Given the description of an element on the screen output the (x, y) to click on. 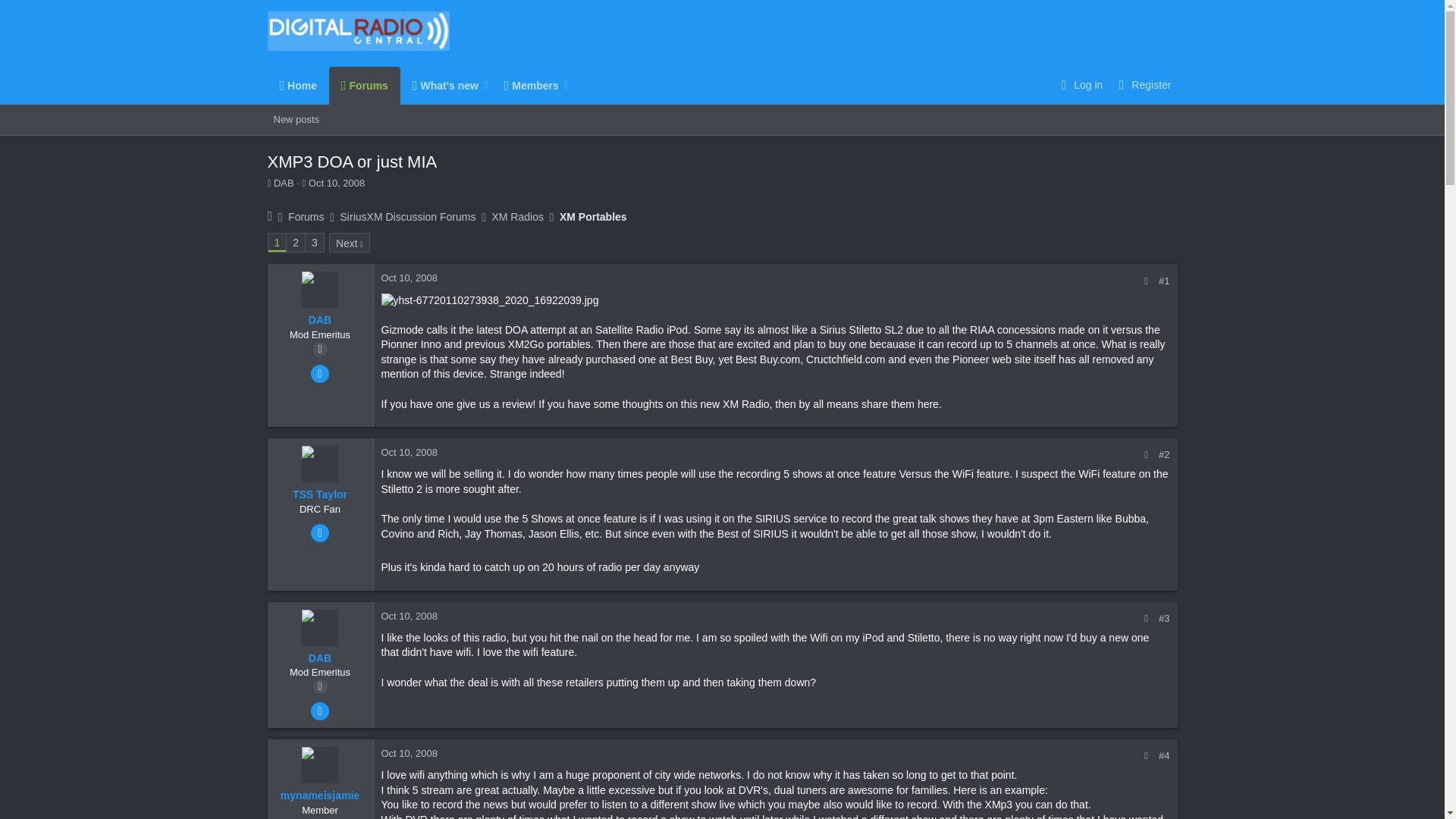
DAB (283, 183)
Oct 10, 2008 at 3:24 AM (336, 183)
Oct 10, 2008 (336, 183)
Home (297, 85)
XM Portables (593, 217)
New posts (419, 85)
3 (295, 119)
Members (314, 242)
1 (526, 85)
